Given the description of an element on the screen output the (x, y) to click on. 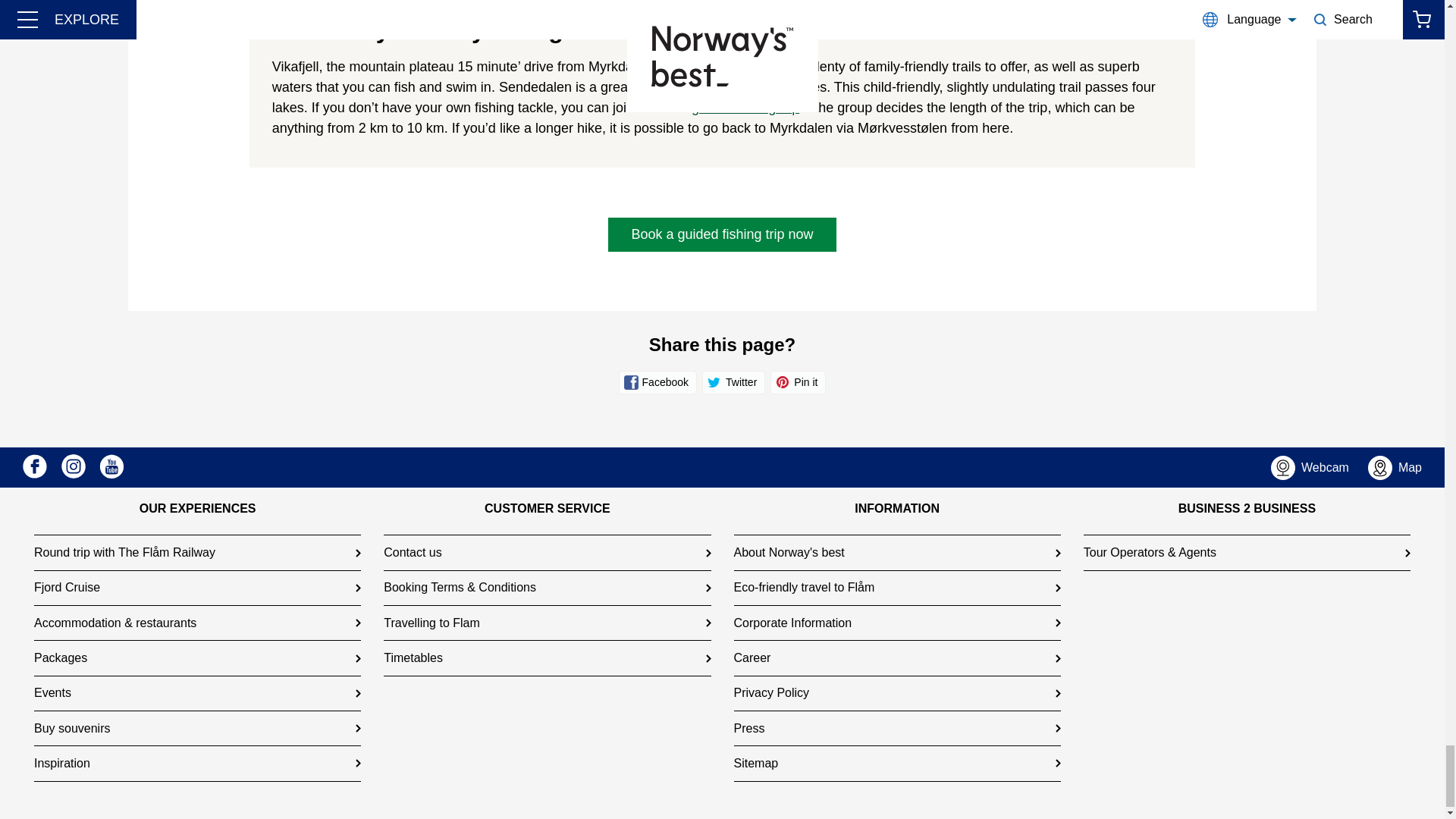
Guided family fishing trip (745, 107)
Youtube (111, 466)
Instagram (73, 466)
Facebook (34, 466)
